Given the description of an element on the screen output the (x, y) to click on. 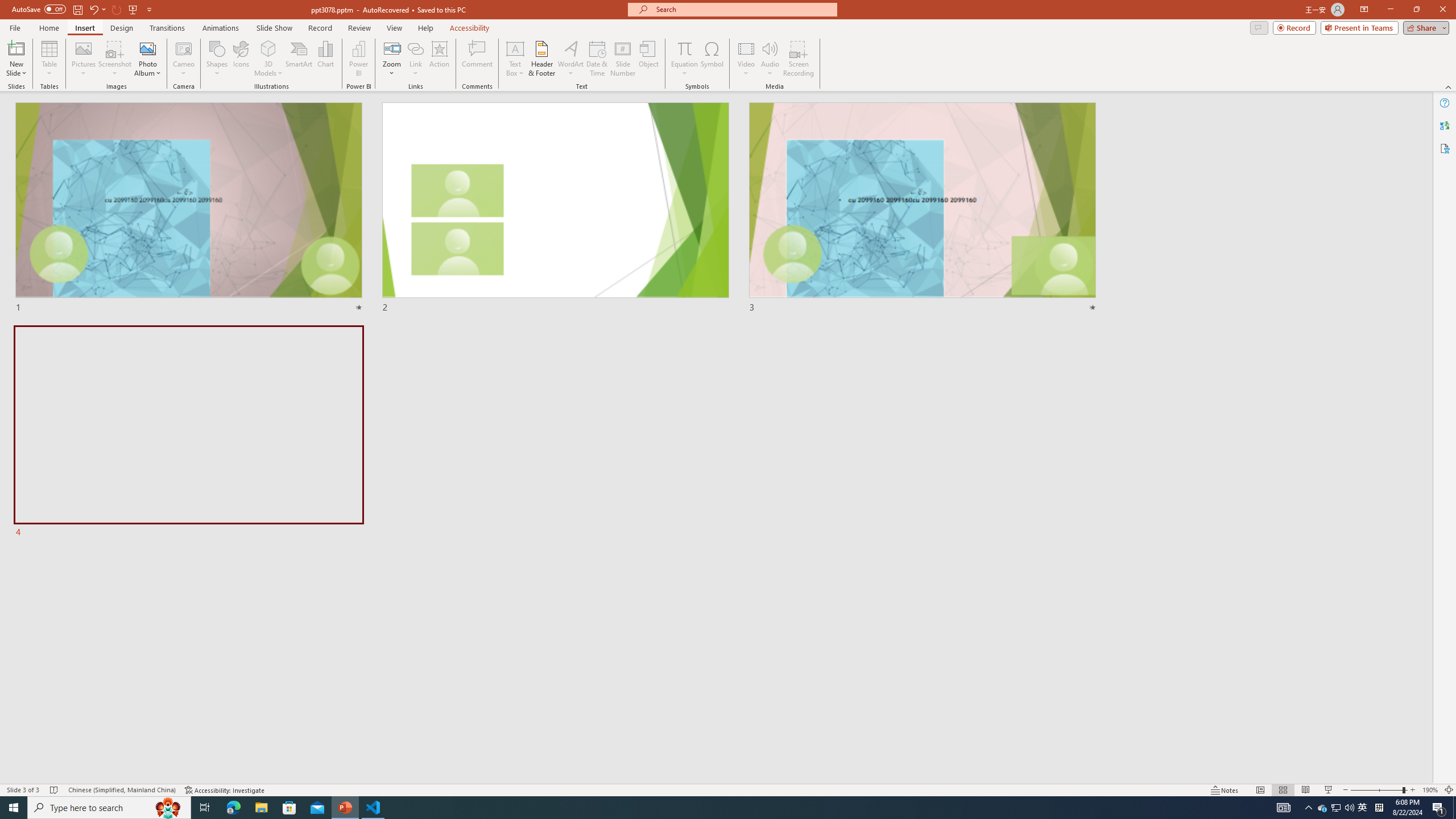
Zoom 190% (1430, 790)
Table (49, 58)
AutoSave (38, 9)
Insert (83, 28)
Equation (683, 58)
Translator (1444, 125)
Zoom to Fit  (1449, 790)
Quick Access Toolbar (82, 9)
Text Box (515, 58)
Save (77, 9)
Spell Check No Errors (54, 790)
